Given the description of an element on the screen output the (x, y) to click on. 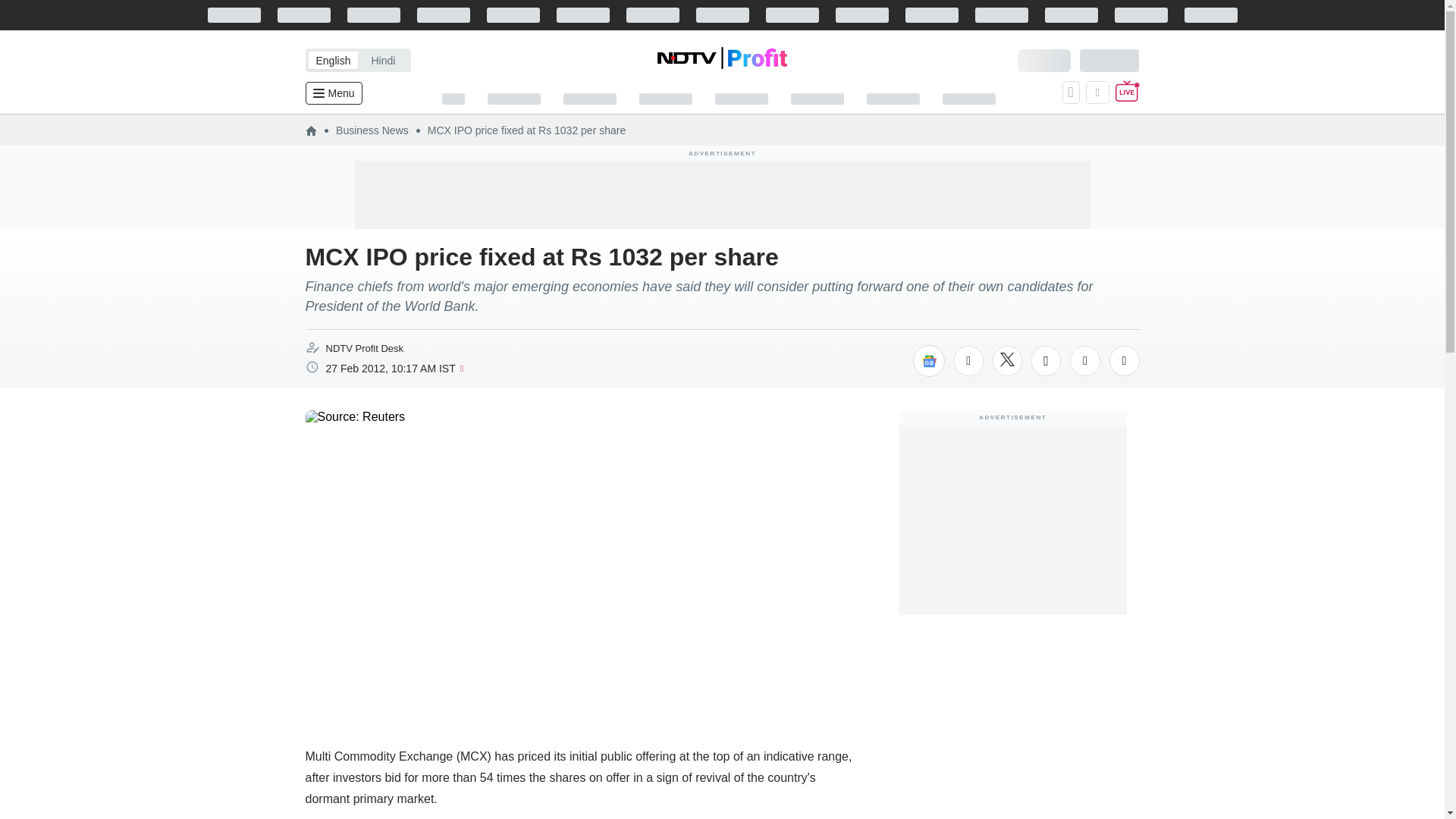
English (332, 59)
Live TV (1127, 92)
Hindi (382, 59)
Menu (332, 92)
Hindi (382, 59)
